Given the description of an element on the screen output the (x, y) to click on. 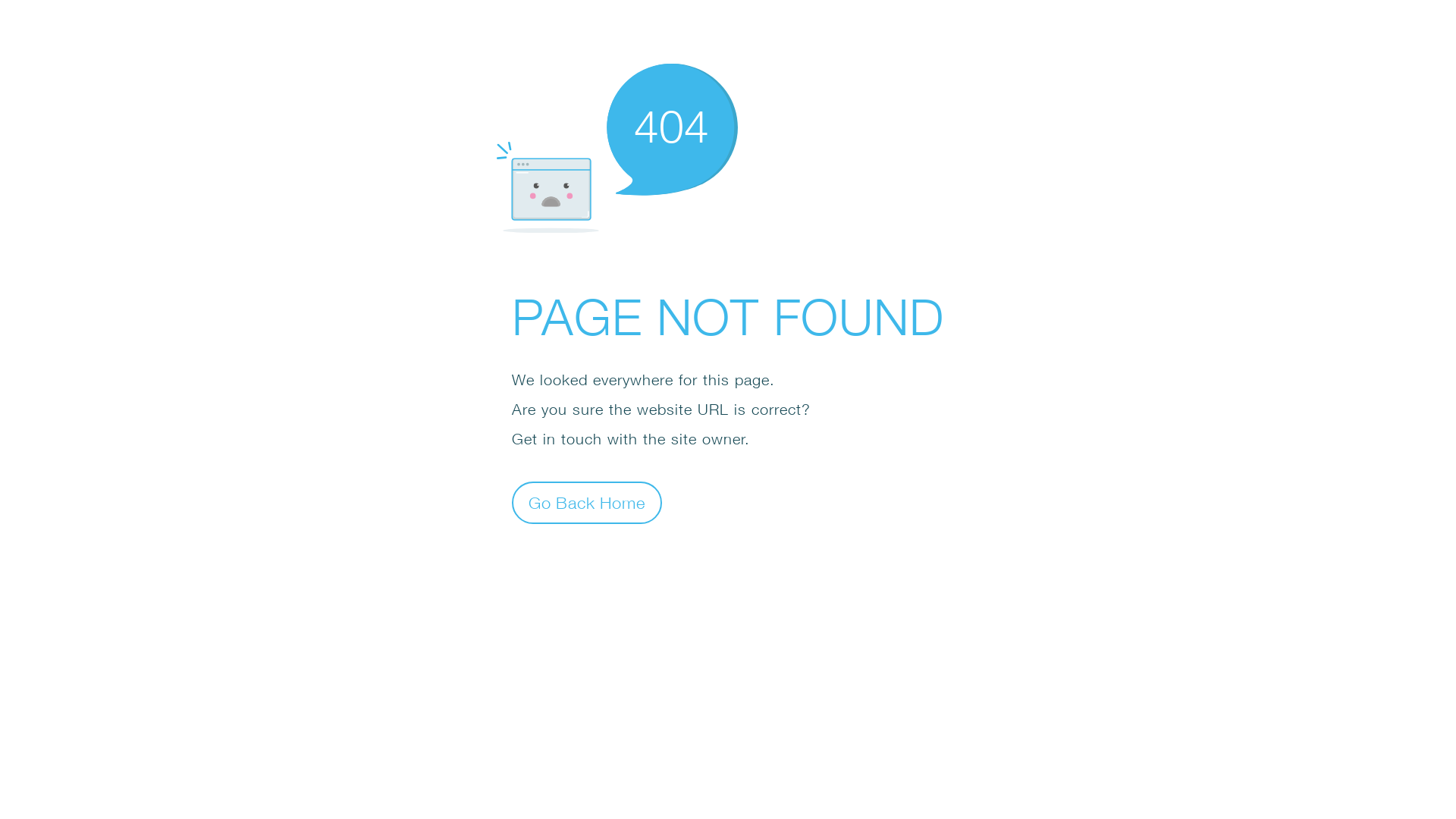
Go Back Home Element type: text (586, 502)
